Given the description of an element on the screen output the (x, y) to click on. 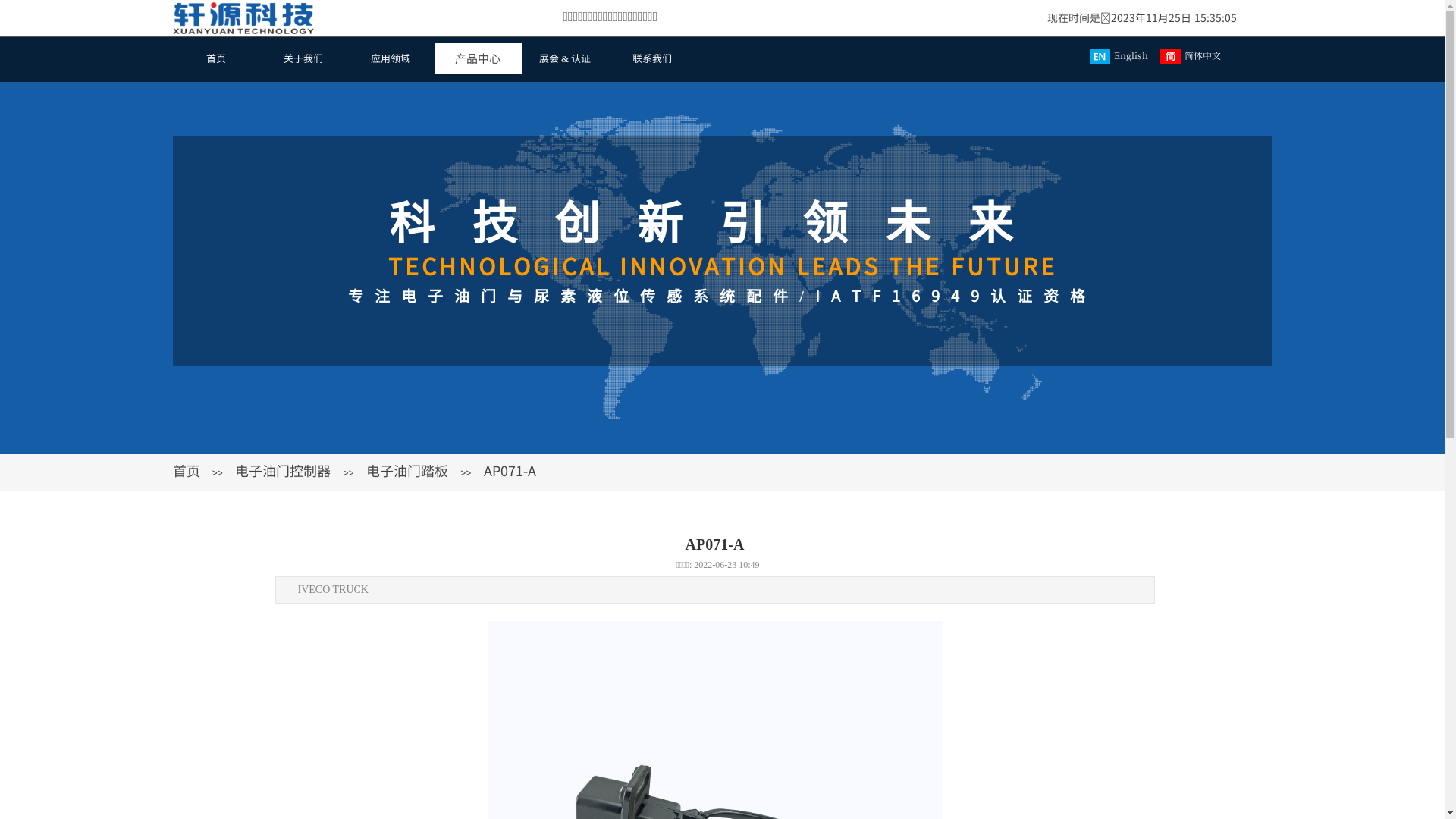
AP071-A Element type: text (509, 470)
English Element type: text (1120, 54)
